Given the description of an element on the screen output the (x, y) to click on. 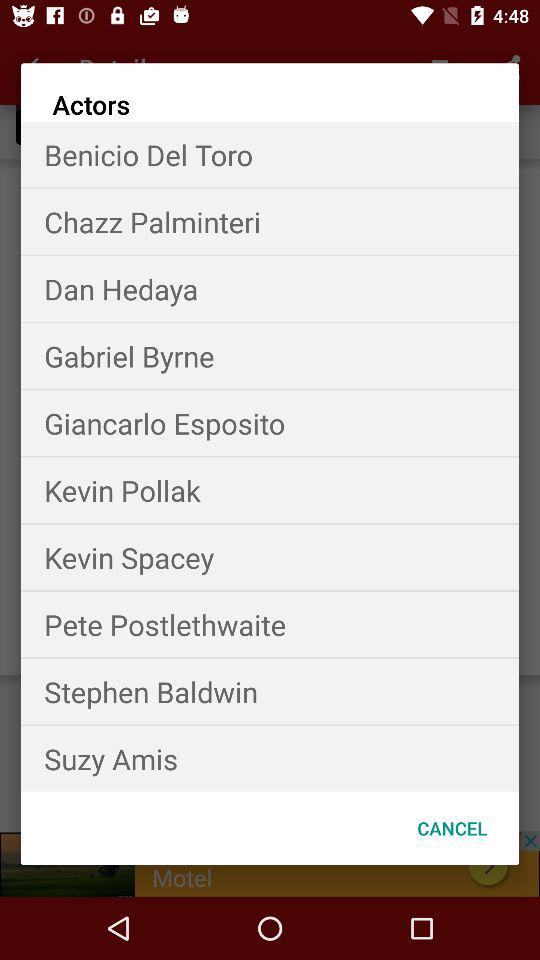
launch icon at the bottom right corner (452, 827)
